Given the description of an element on the screen output the (x, y) to click on. 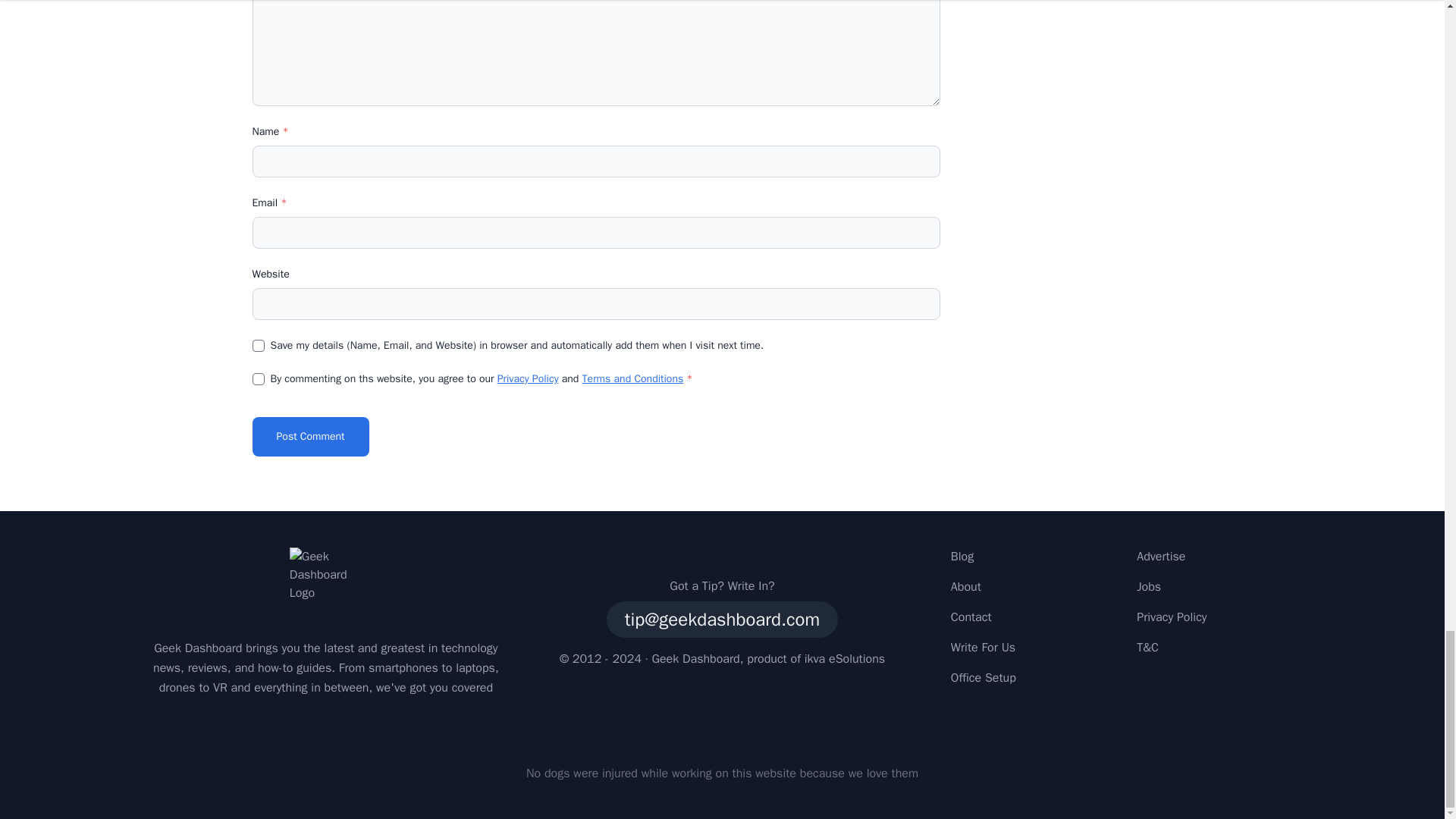
Post Comment (309, 436)
yes (257, 345)
on (257, 378)
